Given the description of an element on the screen output the (x, y) to click on. 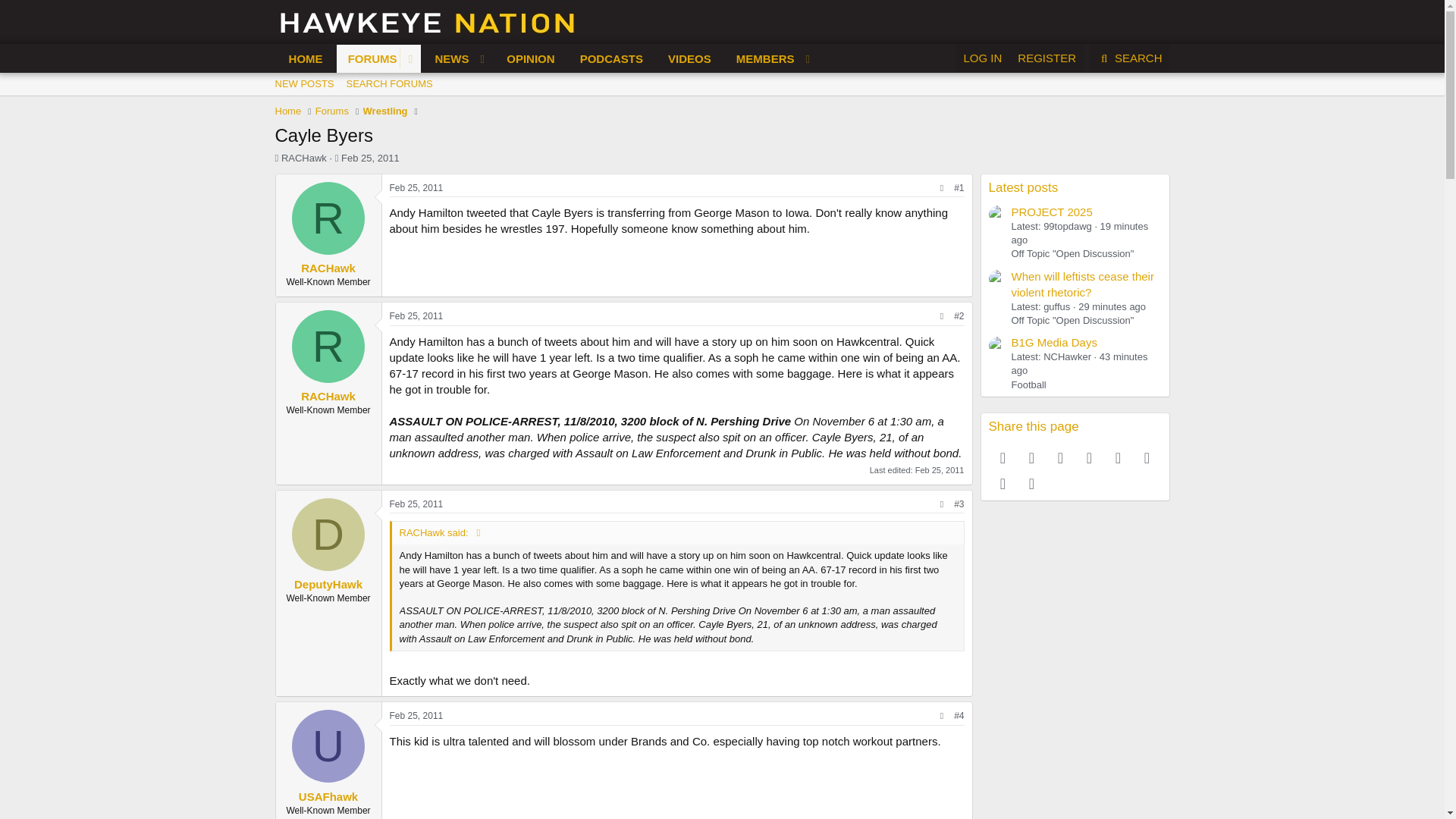
REGISTER (1046, 58)
Forums (332, 111)
MEMBERS (760, 58)
NEWS (447, 58)
LOG IN (982, 58)
Home (288, 111)
SEARCH (1129, 58)
Feb 25, 2011 at 11:10 PM (417, 715)
Feb 25, 2011 at 10:49 PM (417, 187)
Wrestling (384, 111)
Feb 25, 2011 (369, 157)
Feb 25, 2011 at 11:10 PM (417, 503)
HOME (306, 58)
SEARCH FORUMS (389, 83)
Search (1129, 58)
